Given the description of an element on the screen output the (x, y) to click on. 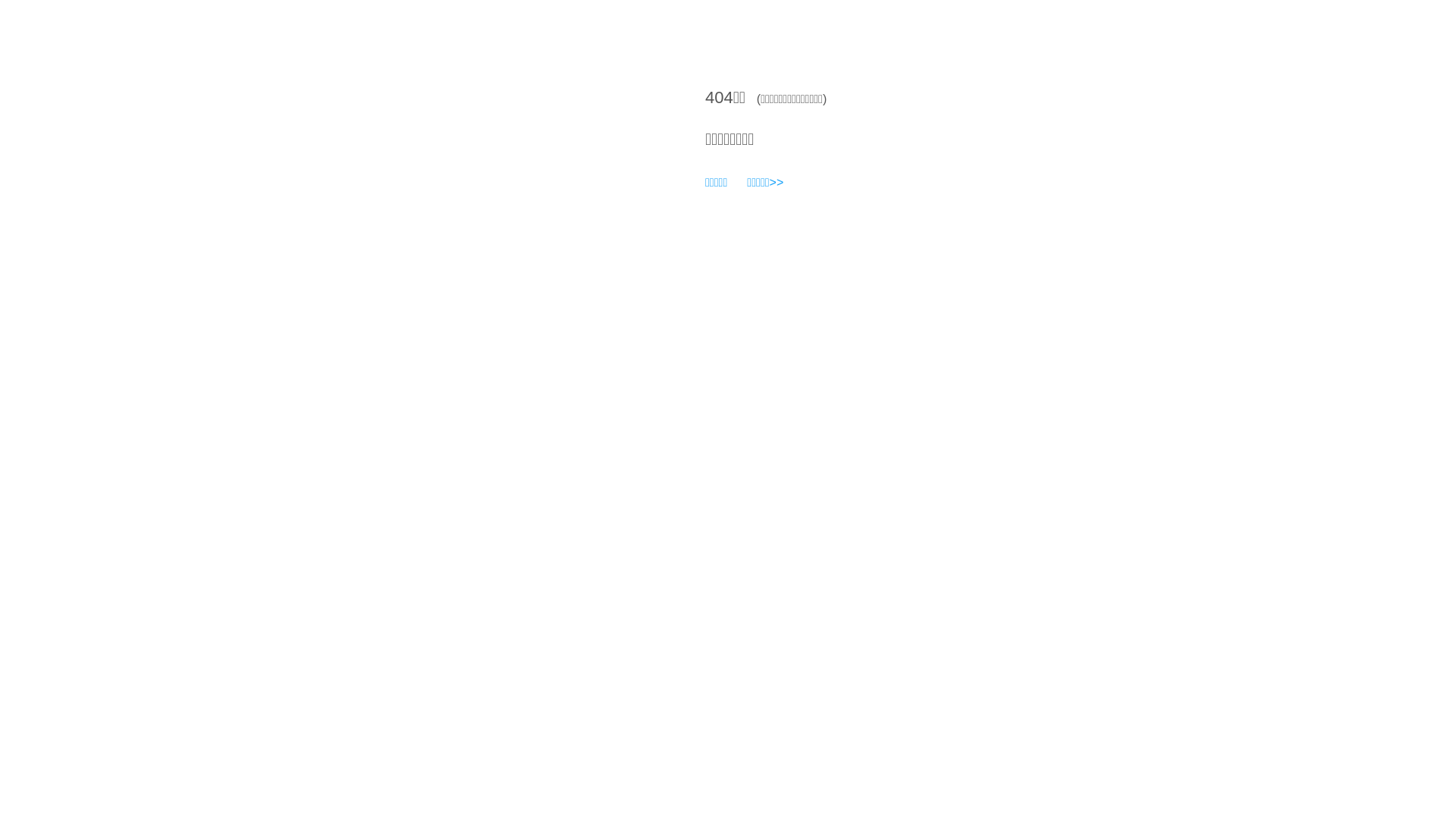
404 Element type: text (719, 96)
